Given the description of an element on the screen output the (x, y) to click on. 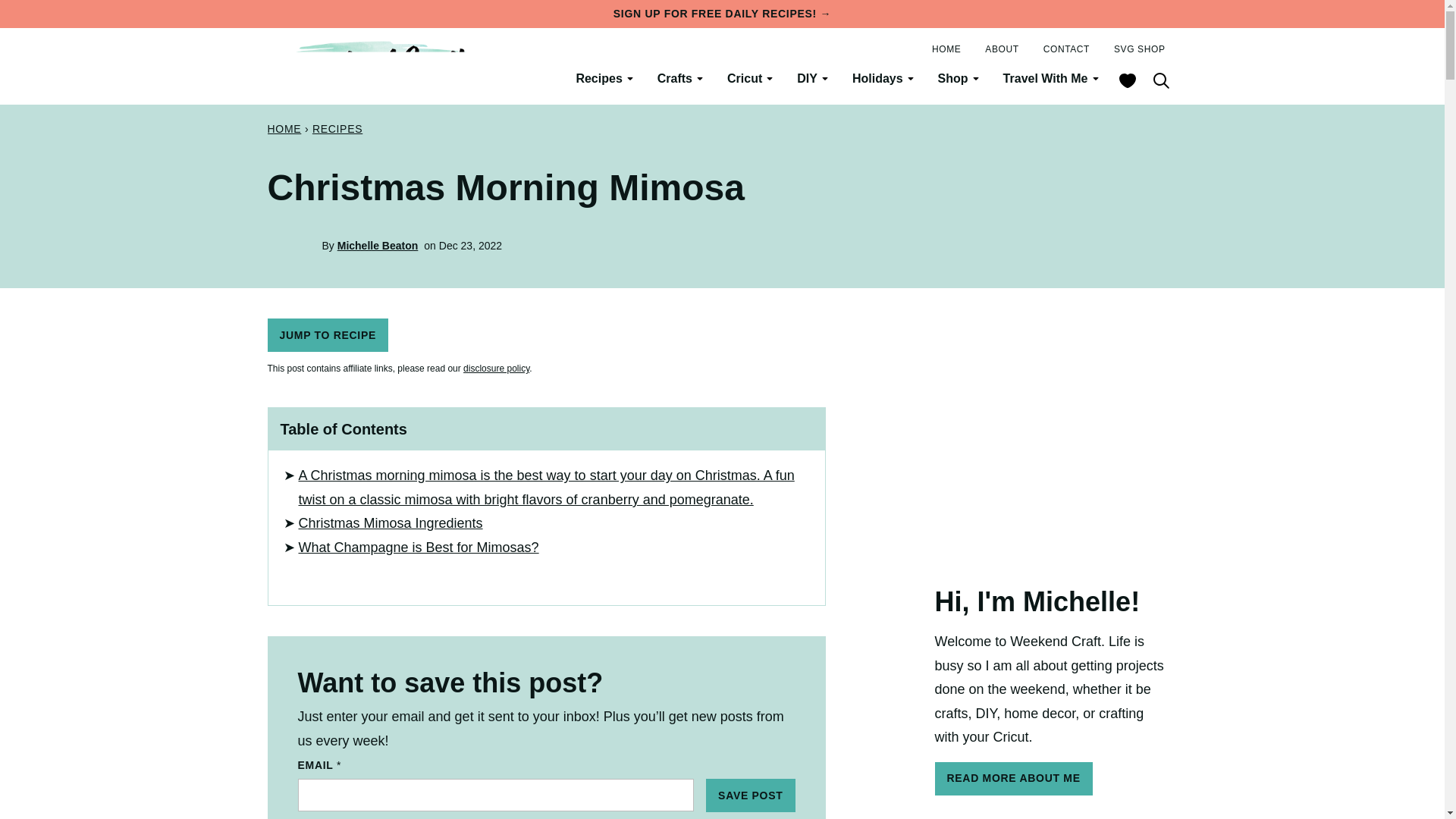
Crafts (679, 78)
Recipes (604, 78)
DIY (812, 78)
Holidays (883, 78)
Cricut (749, 78)
